Given the description of an element on the screen output the (x, y) to click on. 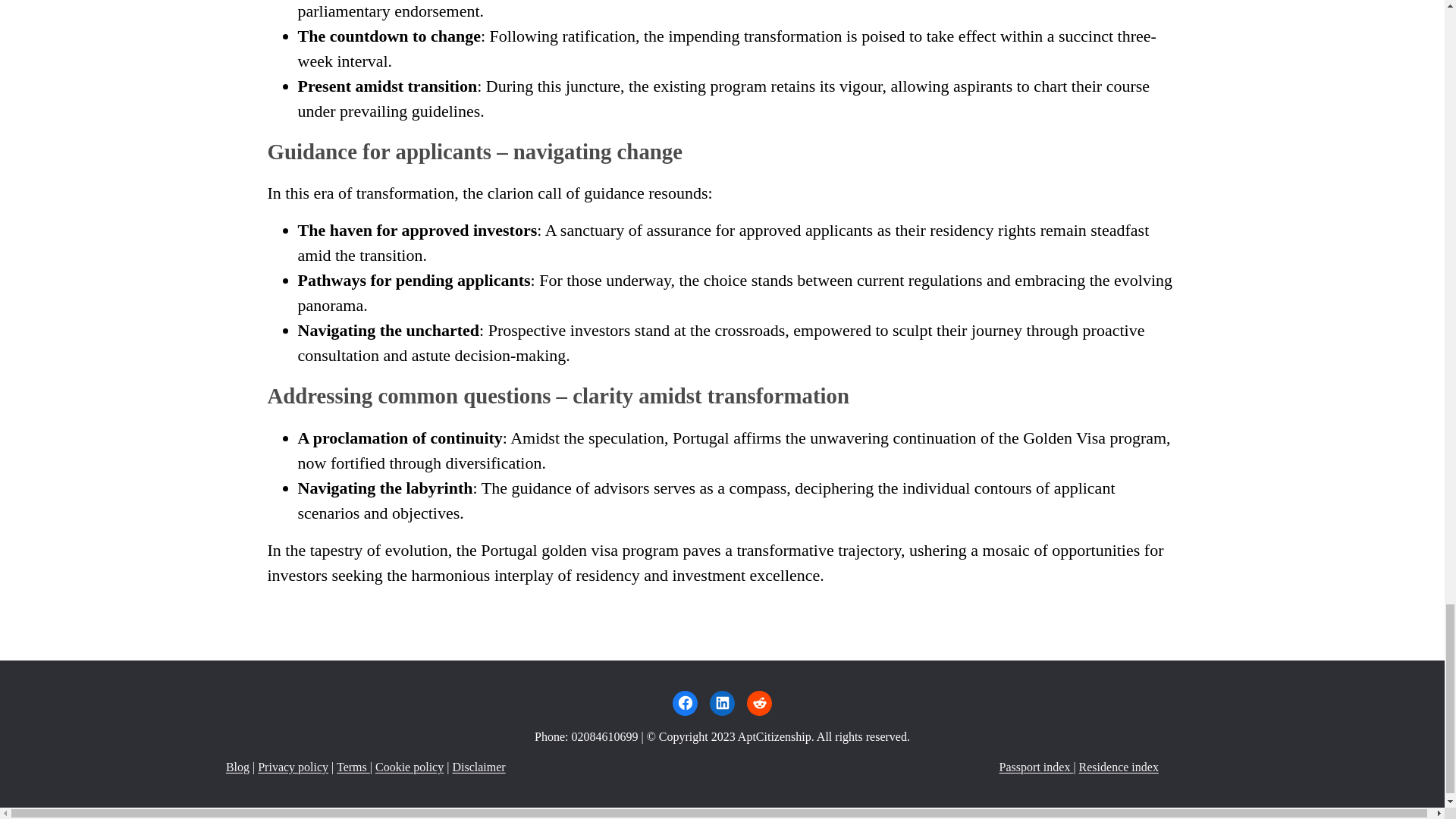
Passport index (1036, 766)
Disclaimer (478, 766)
Terms (352, 766)
Blog (236, 766)
Reddit (758, 703)
Residence index (1118, 766)
Cookie policy (409, 766)
Facebook (684, 703)
LinkedIn (722, 703)
Privacy policy (293, 766)
